Given the description of an element on the screen output the (x, y) to click on. 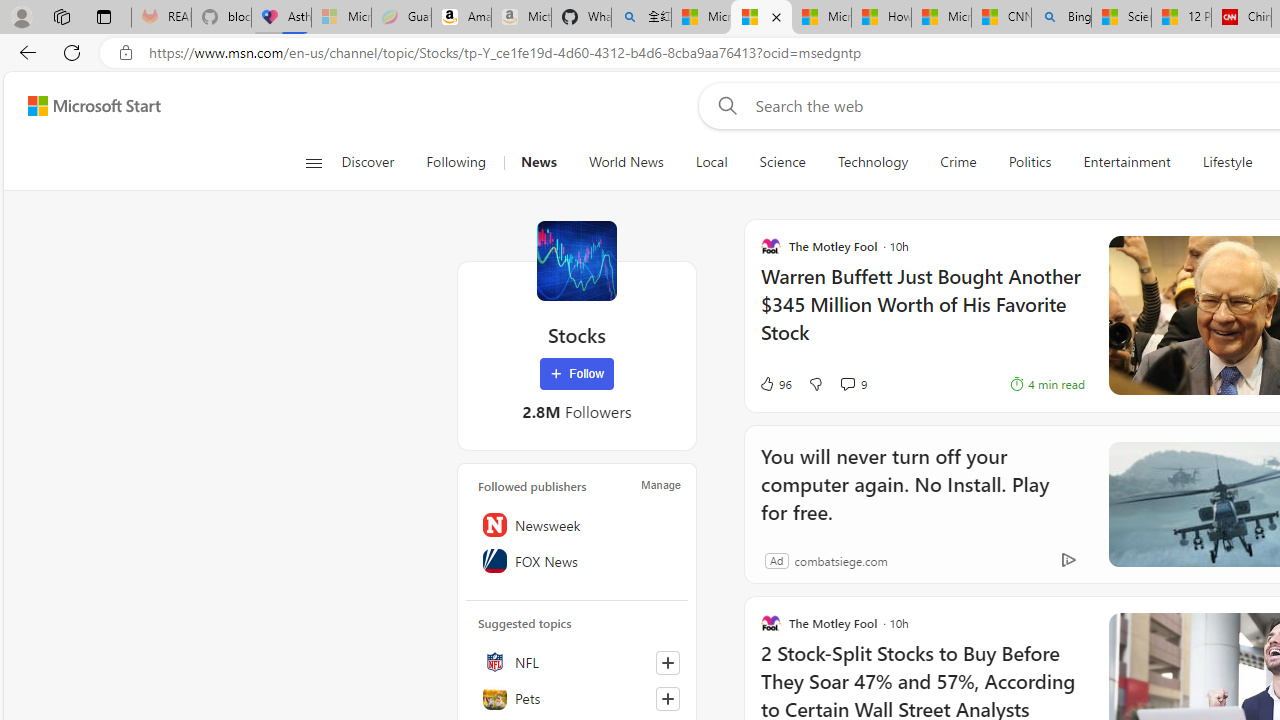
Follow this topic (667, 698)
NFL (577, 661)
Follow (577, 373)
Pets (577, 697)
12 Popular Science Lies that Must be Corrected (1181, 17)
